Given the description of an element on the screen output the (x, y) to click on. 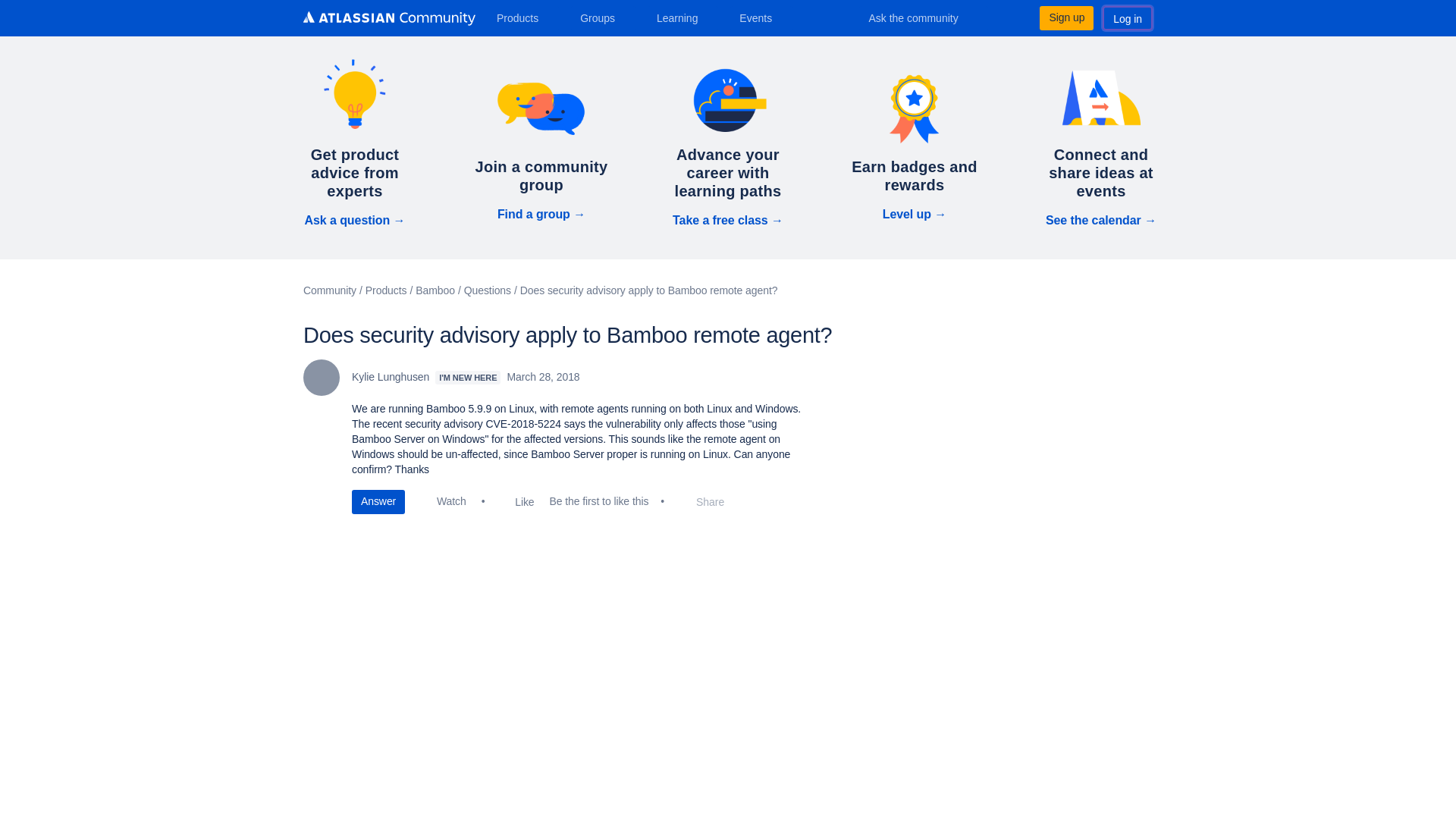
Log in (1127, 17)
Products (523, 17)
Ask the community  (923, 17)
Events (761, 17)
Learning (682, 17)
Atlassian Community logo (389, 18)
Groups (602, 17)
Kylie Lunghusen (320, 377)
Sign up (1066, 17)
Atlassian Community logo (389, 19)
